Given the description of an element on the screen output the (x, y) to click on. 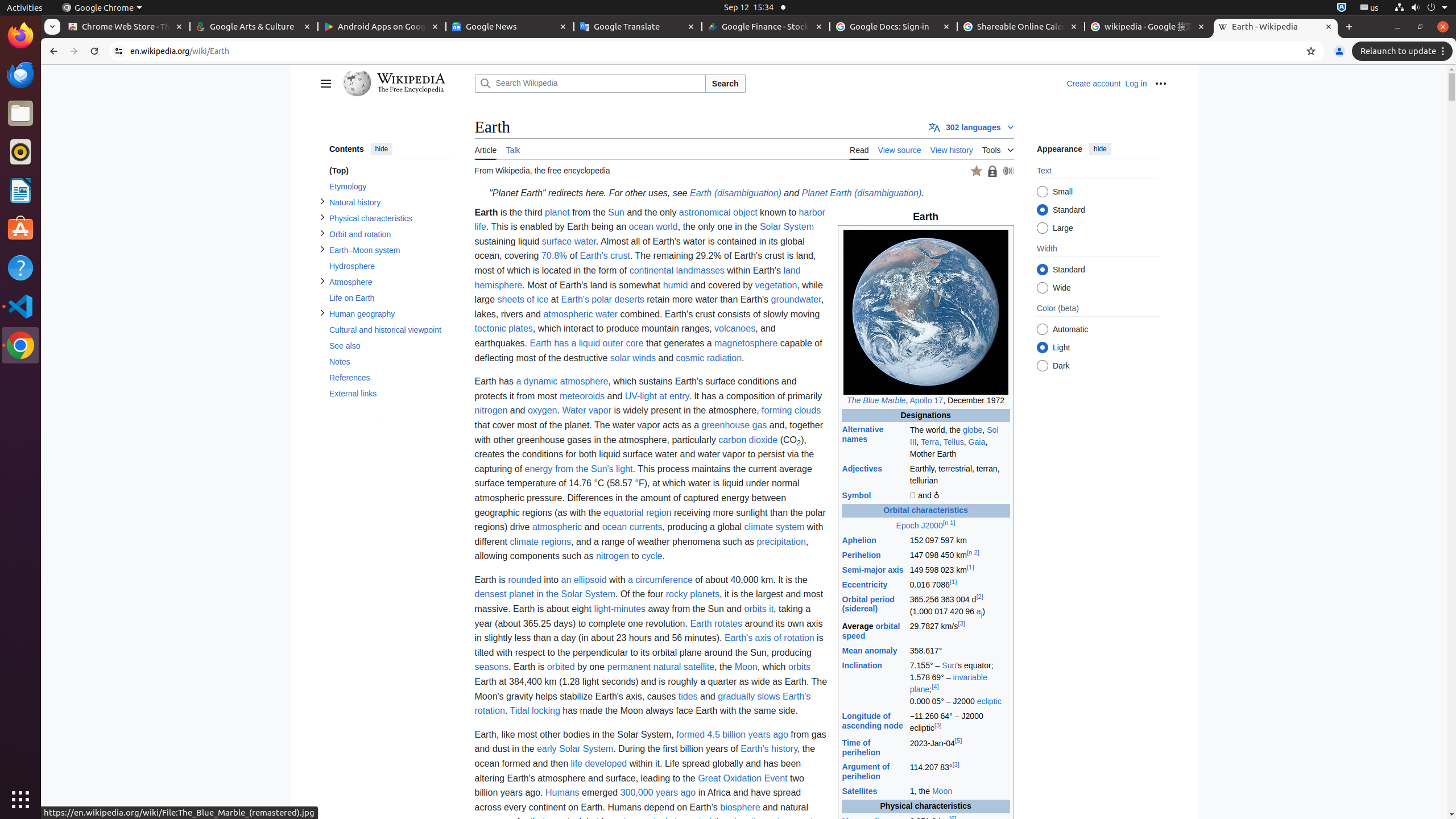
[1] Element type: link (970, 567)
Featured article Element type: link (976, 170)
152097597 km Element type: table-cell (959, 540)
(Top) Element type: link (390, 170)
ecliptic Element type: link (988, 701)
